Given the description of an element on the screen output the (x, y) to click on. 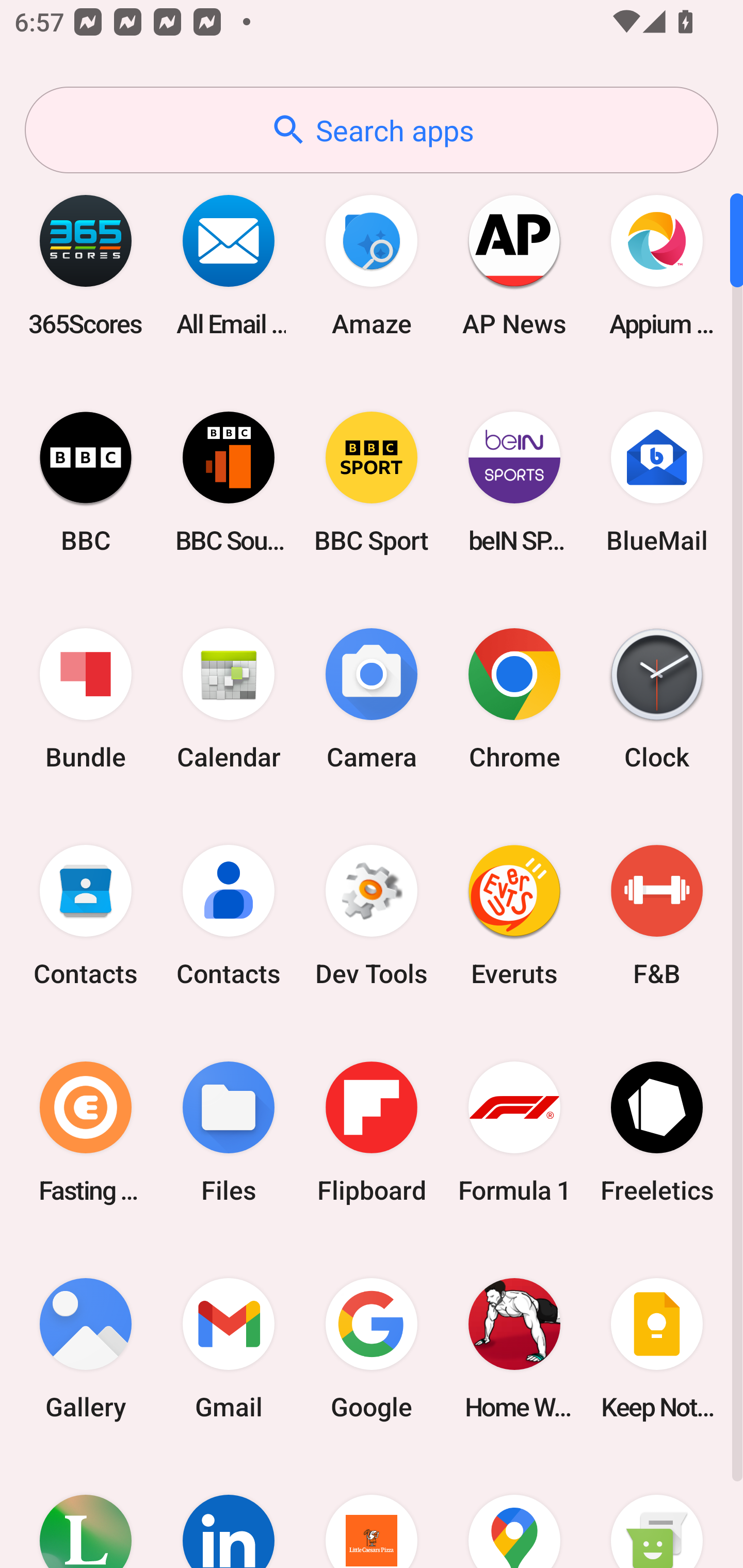
  Search apps (371, 130)
365Scores (85, 264)
All Email Connect (228, 264)
Amaze (371, 264)
AP News (514, 264)
Appium Settings (656, 264)
BBC (85, 482)
BBC Sounds (228, 482)
BBC Sport (371, 482)
beIN SPORTS (514, 482)
BlueMail (656, 482)
Bundle (85, 699)
Calendar (228, 699)
Camera (371, 699)
Chrome (514, 699)
Clock (656, 699)
Contacts (85, 915)
Contacts (228, 915)
Dev Tools (371, 915)
Everuts (514, 915)
F&B (656, 915)
Fasting Coach (85, 1131)
Files (228, 1131)
Flipboard (371, 1131)
Formula 1 (514, 1131)
Freeletics (656, 1131)
Gallery (85, 1348)
Gmail (228, 1348)
Google (371, 1348)
Home Workout (514, 1348)
Keep Notes (656, 1348)
Lifesum (85, 1512)
LinkedIn (228, 1512)
Little Caesars Pizza (371, 1512)
Maps (514, 1512)
Messaging (656, 1512)
